Given the description of an element on the screen output the (x, y) to click on. 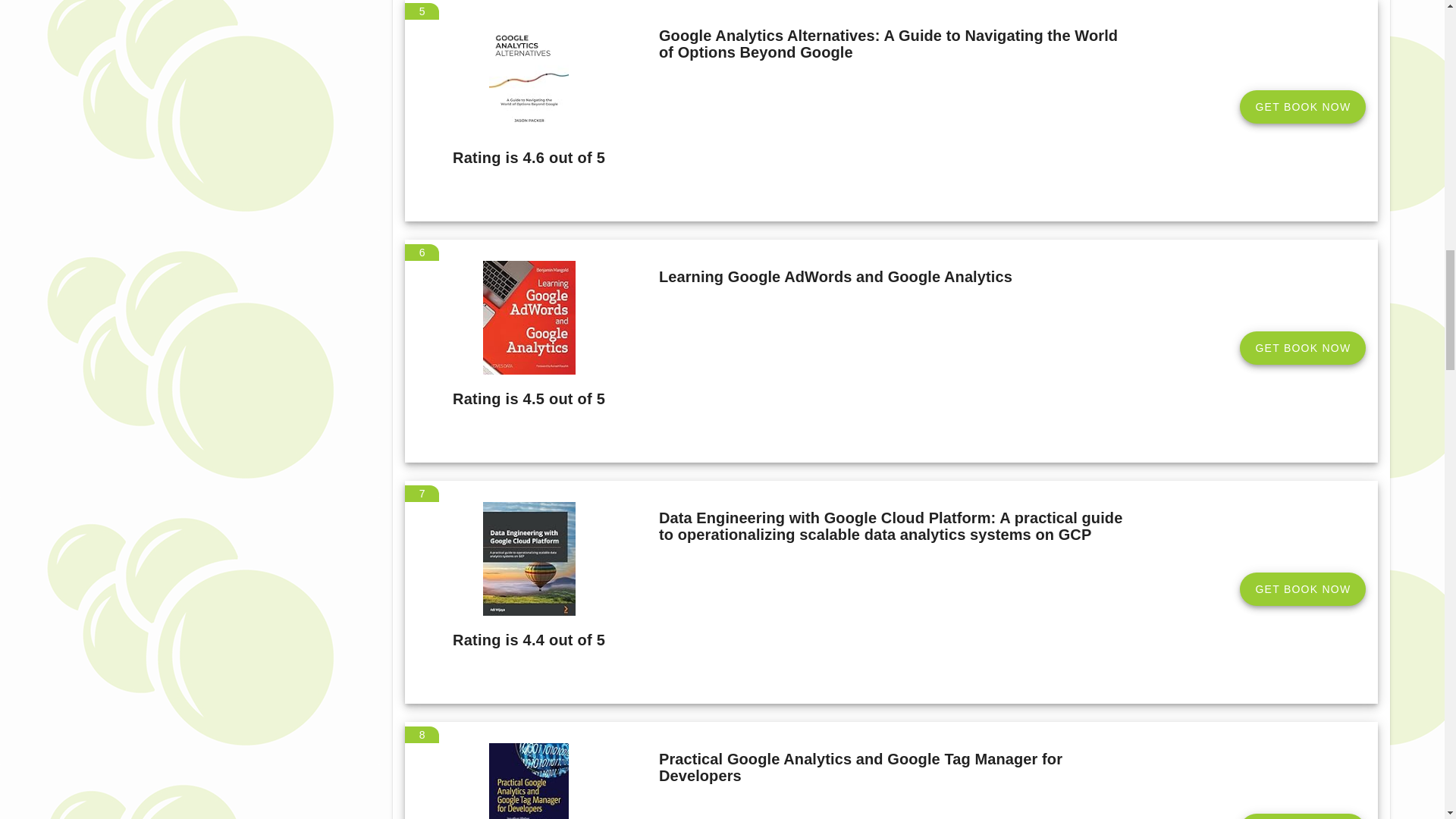
GET BOOK NOW (1302, 347)
GET BOOK NOW (1302, 106)
GET BOOK NOW (1302, 589)
GET BOOK NOW (1302, 816)
